Given the description of an element on the screen output the (x, y) to click on. 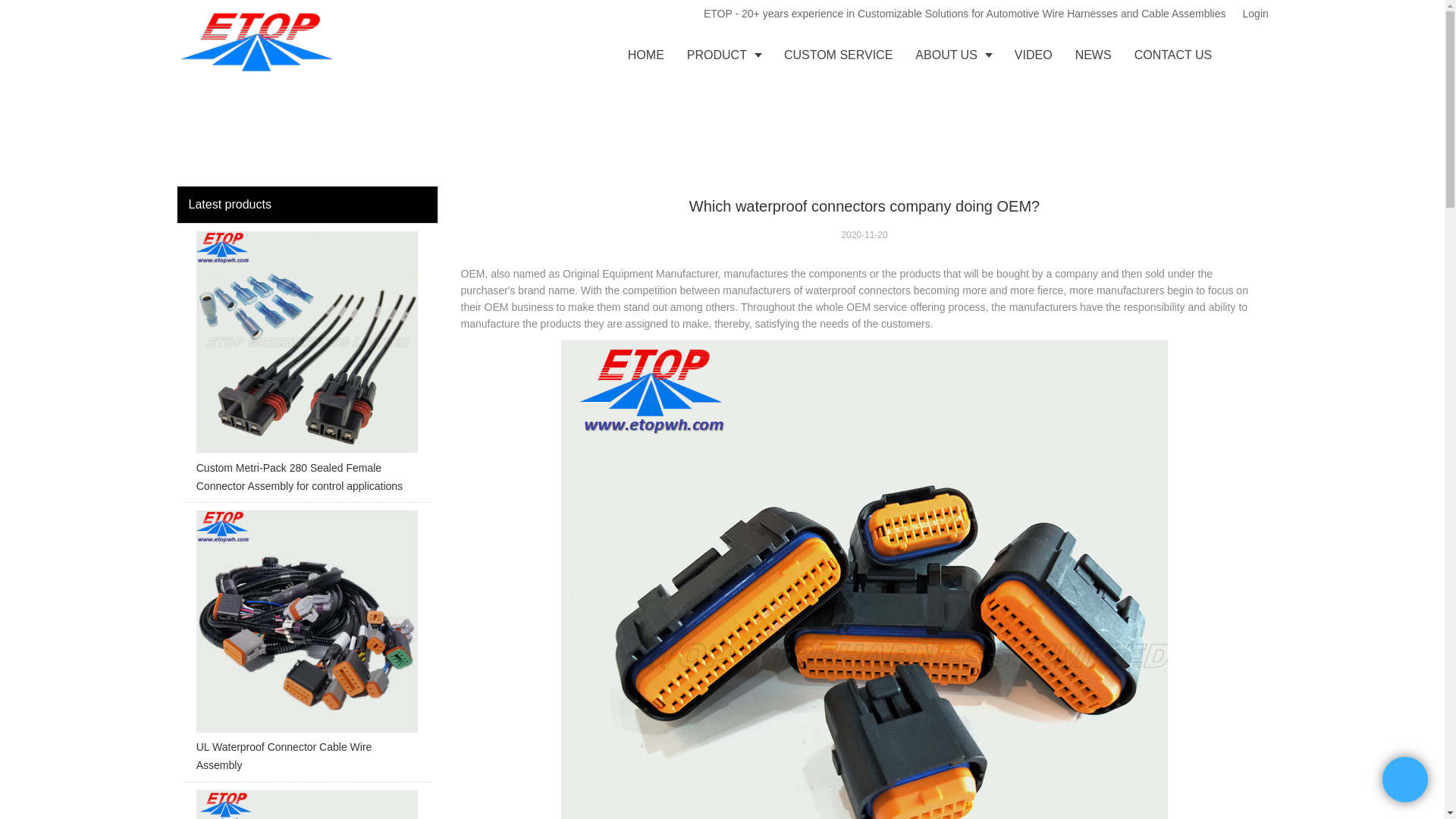
CONTACT US (1173, 55)
CUSTOM SERVICE (838, 55)
NEWS (1093, 55)
VIDEO (1033, 55)
ABOUT US (953, 55)
HOME (645, 55)
Login (1249, 13)
PRODUCT (724, 55)
Usb Data Cable Custom Molded Cable Assemblies (306, 804)
UL Waterproof Connector Cable Wire Assembly (306, 646)
